Given the description of an element on the screen output the (x, y) to click on. 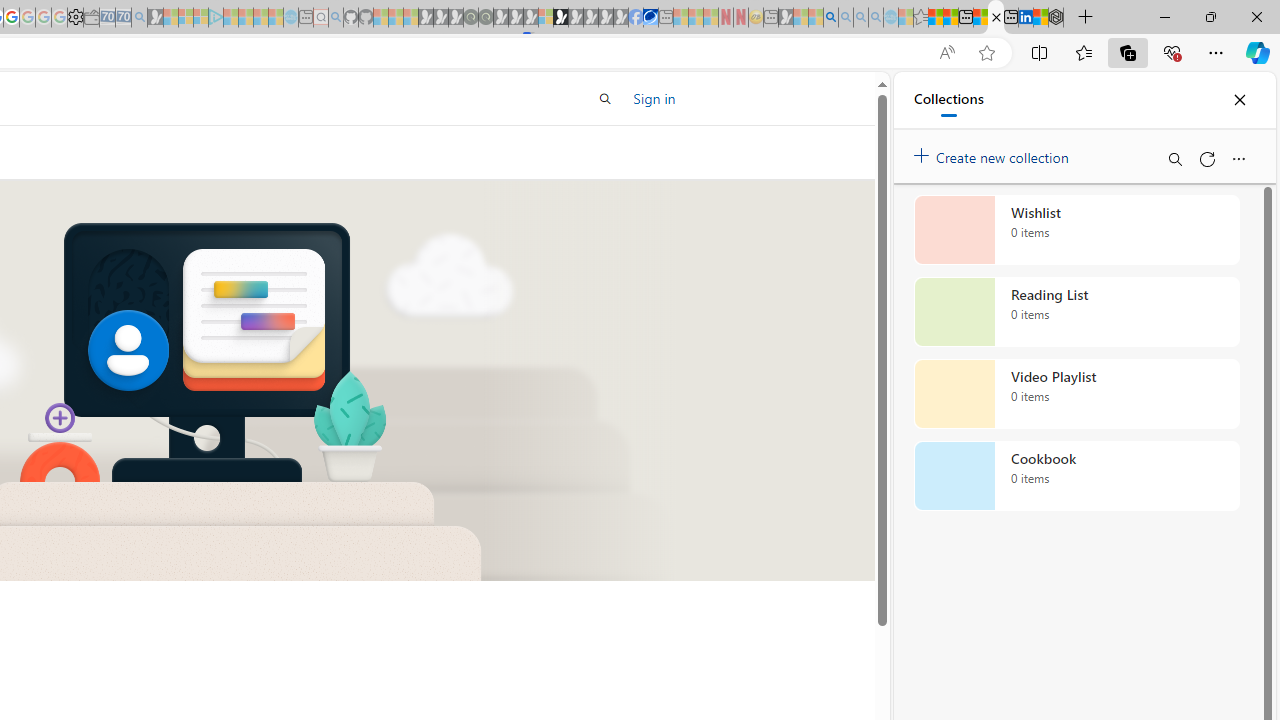
Future Focus Report 2024 - Sleeping (485, 17)
MSN - Sleeping (786, 17)
Nordace | Facebook - Sleeping (635, 17)
Create new collection (994, 153)
Wishlist collection, 0 items (1076, 229)
